Given the description of an element on the screen output the (x, y) to click on. 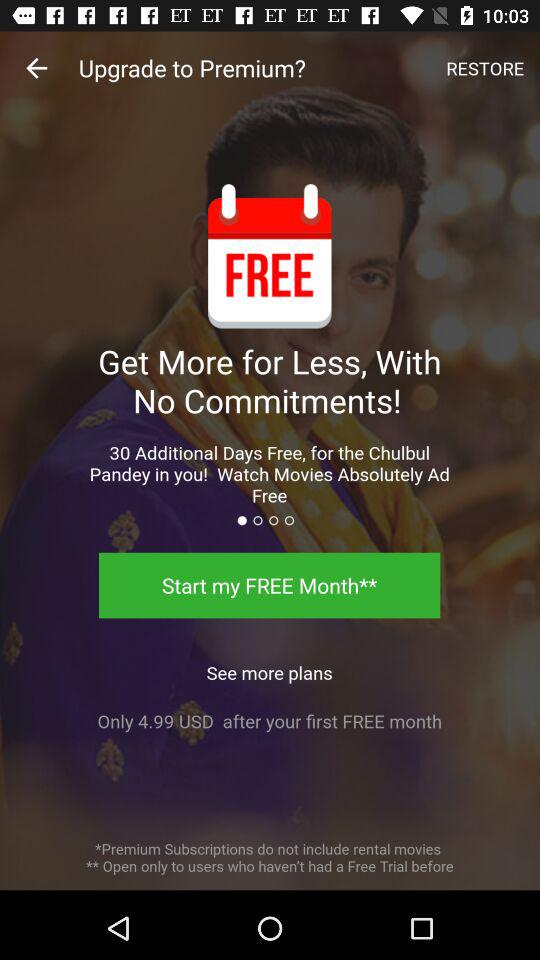
swipe until restore item (485, 67)
